Given the description of an element on the screen output the (x, y) to click on. 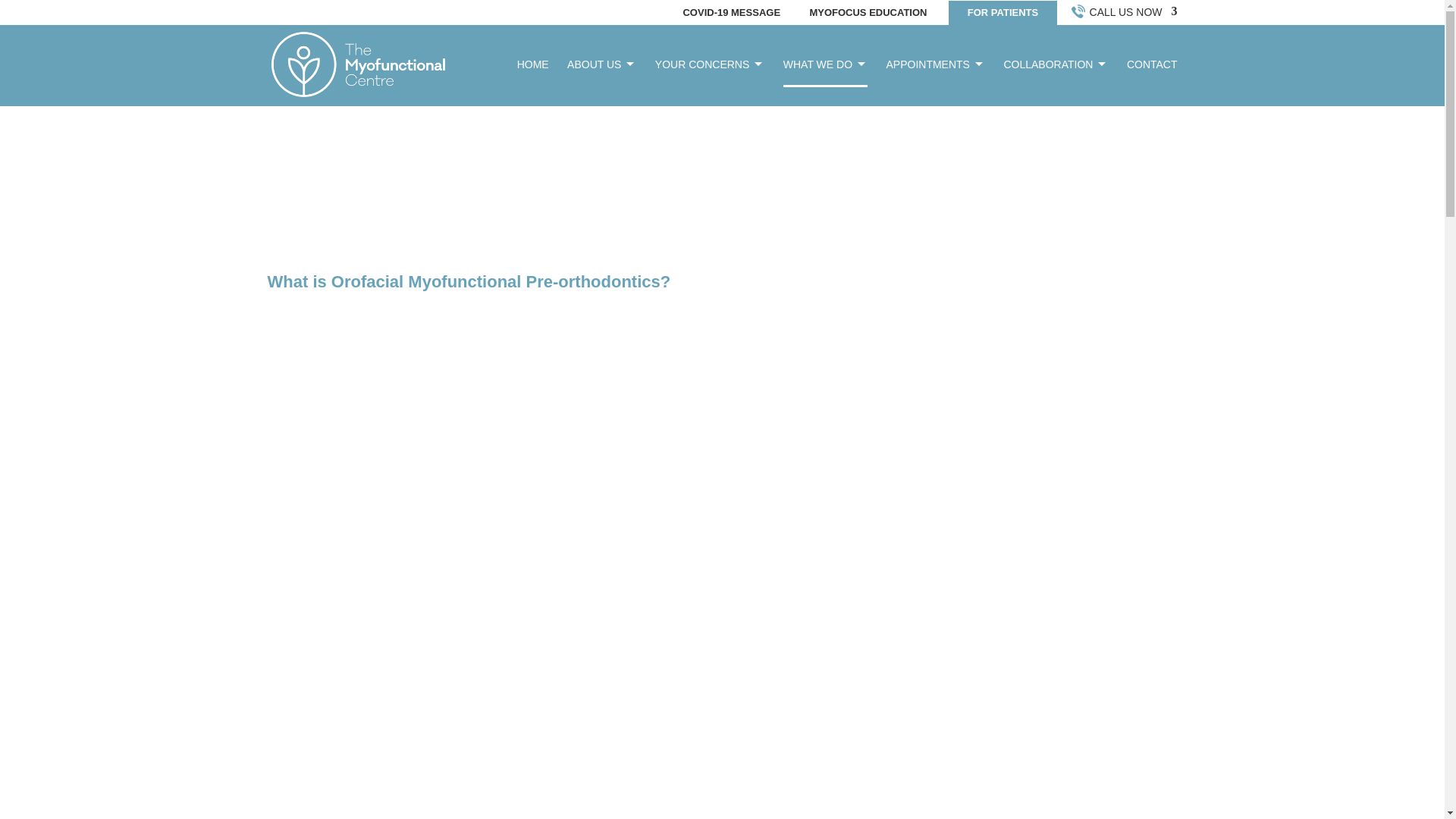
COVID-19 MESSAGE (731, 12)
MYOFOCUS EDUCATION (868, 12)
APPOINTMENTS (934, 82)
CALL US NOW (1124, 12)
ABOUT US (601, 82)
CONTACT (1151, 82)
WHAT WE DO (825, 82)
COLLABORATION (1055, 82)
YOUR CONCERNS (709, 82)
FOR PATIENTS (1003, 12)
